Given the description of an element on the screen output the (x, y) to click on. 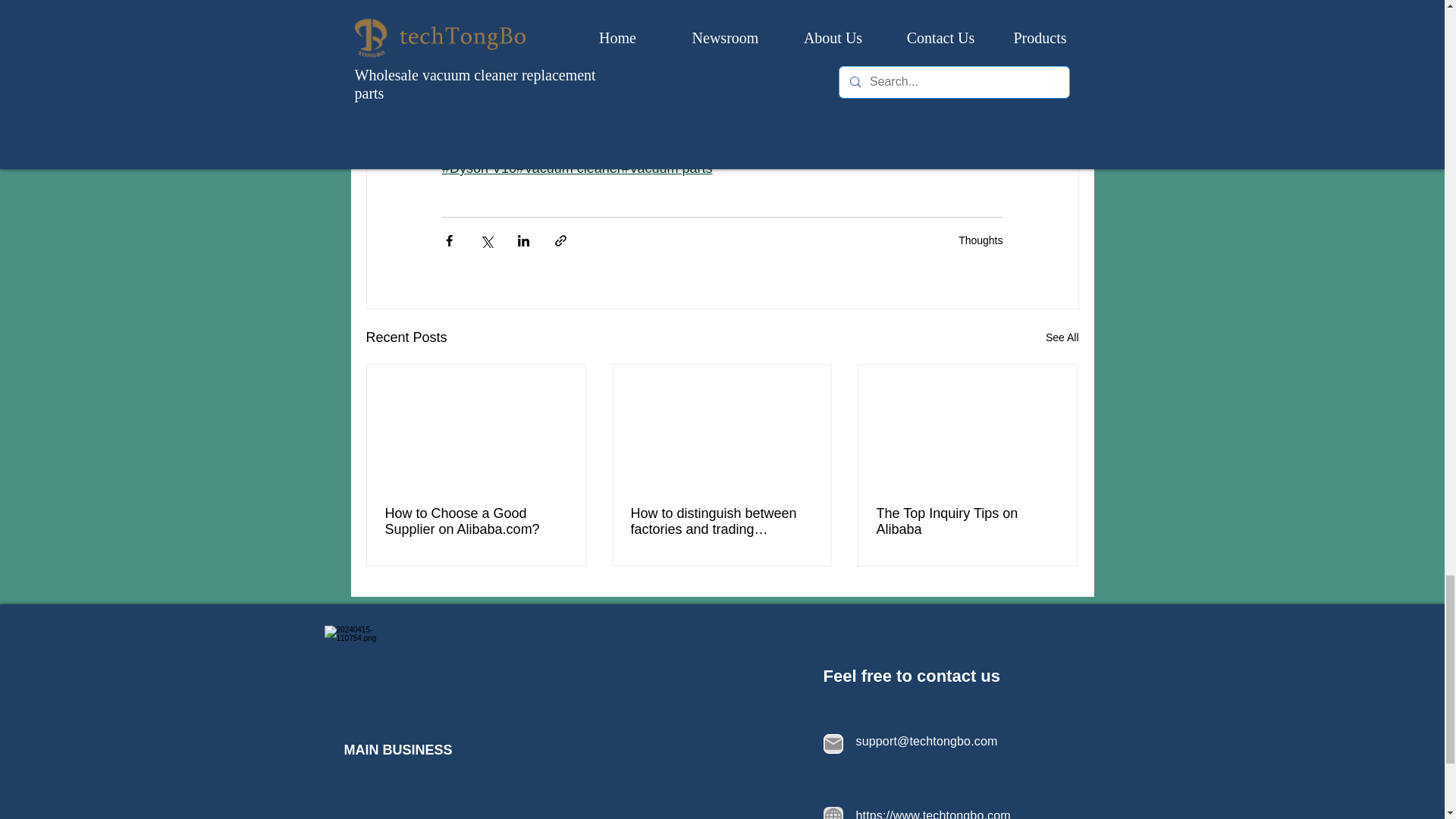
How to Choose a Good Supplier on Alibaba.com? (476, 521)
The Top Inquiry Tips on Alibaba (967, 521)
See All (1061, 337)
Thoughts (980, 240)
